Given the description of an element on the screen output the (x, y) to click on. 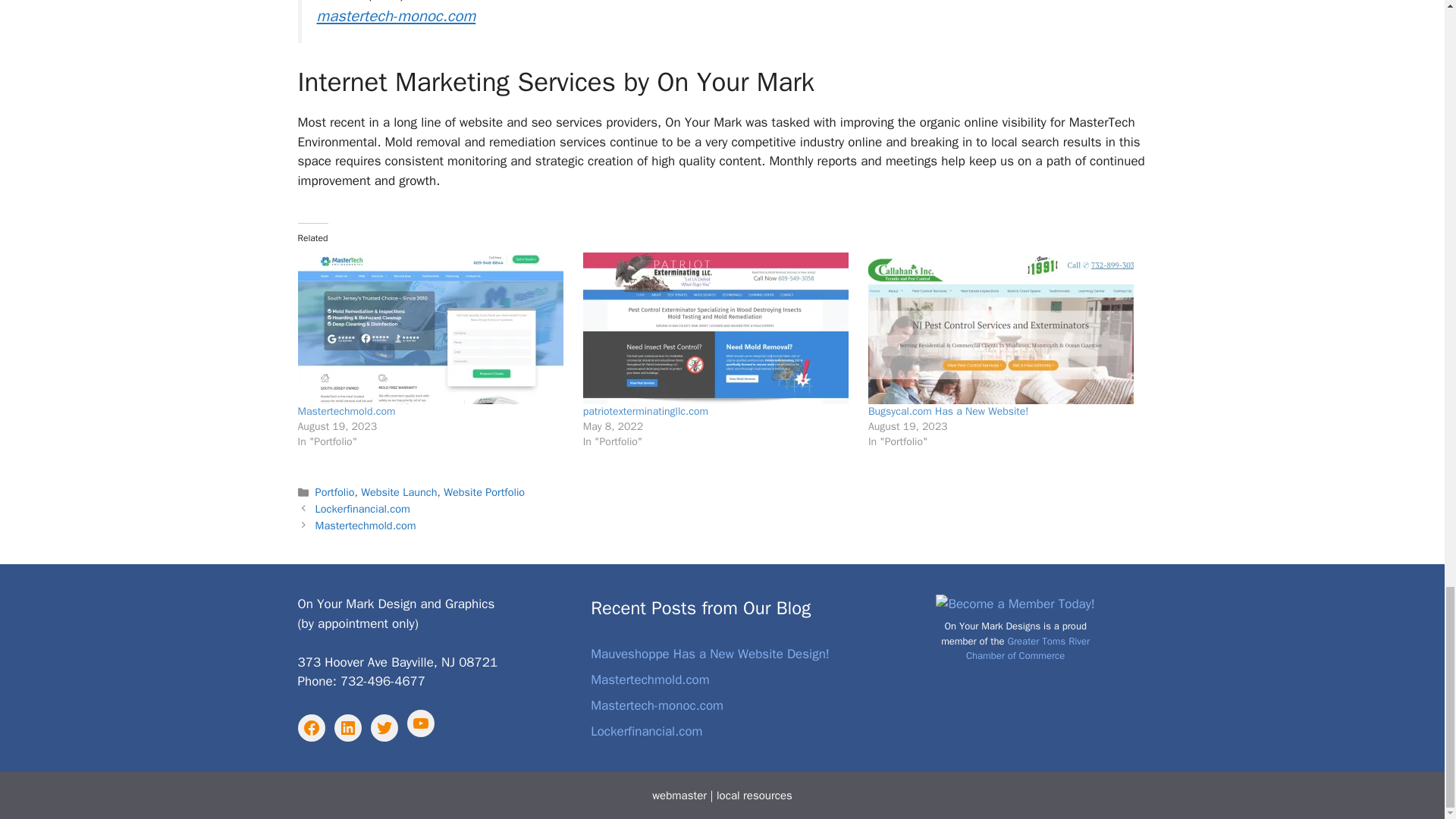
Bugsycal.com Has a New Website! (1002, 328)
patriotexterminatingllc.com (718, 328)
Mauveshoppe Has a New Website Design! (710, 653)
patriotexterminatingllc.com (645, 410)
Mastertechmold.com (345, 410)
webmaster (679, 795)
Website Launch (398, 491)
Bugsycal.com Has a New Website! (948, 410)
Mastertechmold.com (650, 679)
Facebook (310, 728)
patriotexterminatingllc.com (645, 410)
YouTube (419, 723)
Lockerfinancial.com (646, 731)
Bugsycal.com Has a New Website! (948, 410)
Twitter (383, 728)
